Given the description of an element on the screen output the (x, y) to click on. 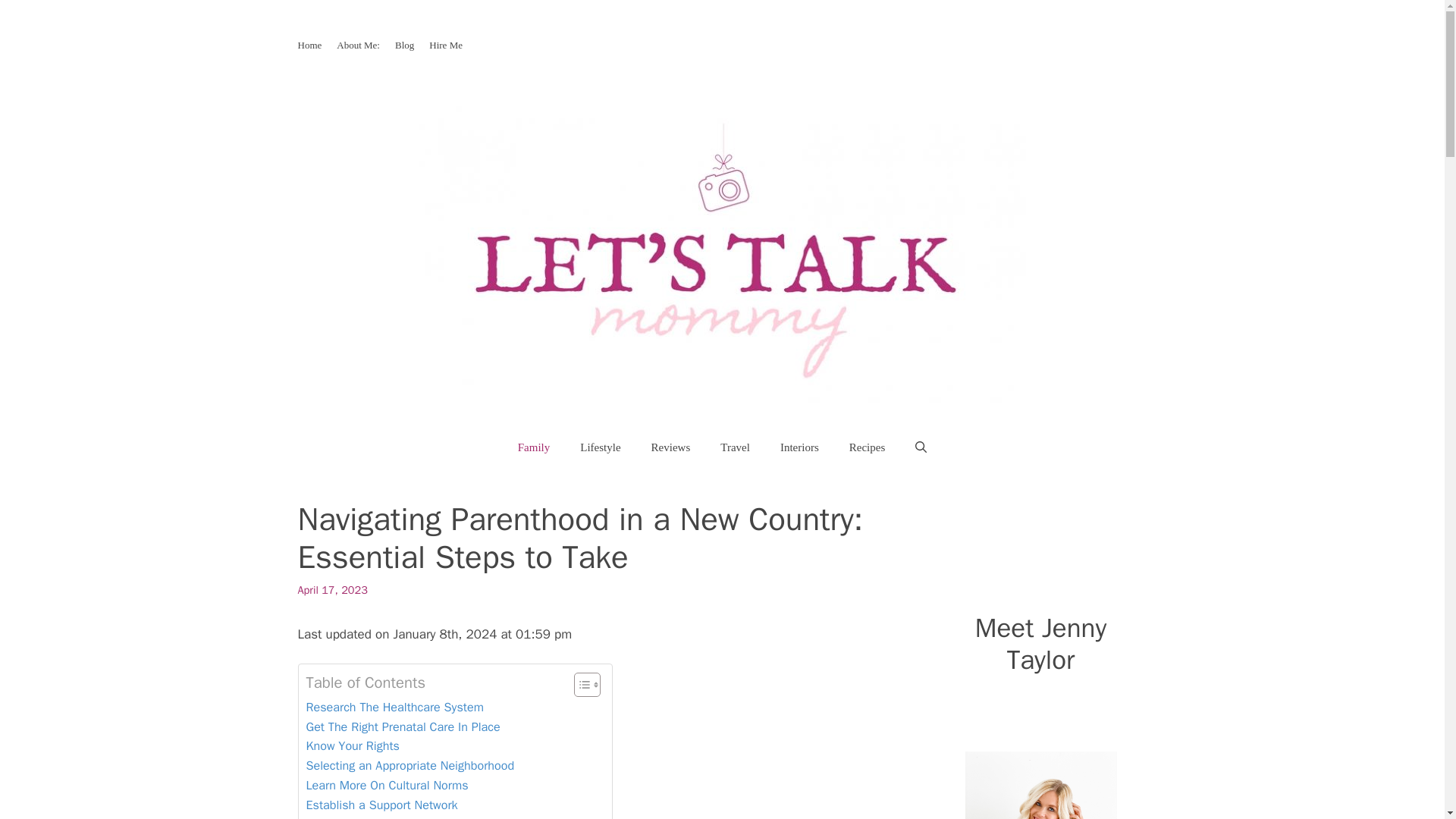
Learn More On Cultural Norms (386, 785)
Research The Healthcare System (394, 707)
Lily Blanche Butterfly Locket (1039, 785)
Selecting an Appropriate Neighborhood (410, 765)
Establish a Support Network (381, 804)
Establish a Support Network (381, 804)
Reviews (671, 447)
Get The Right Prenatal Care In Place (402, 727)
Hire Me (446, 44)
Home (309, 44)
